Given the description of an element on the screen output the (x, y) to click on. 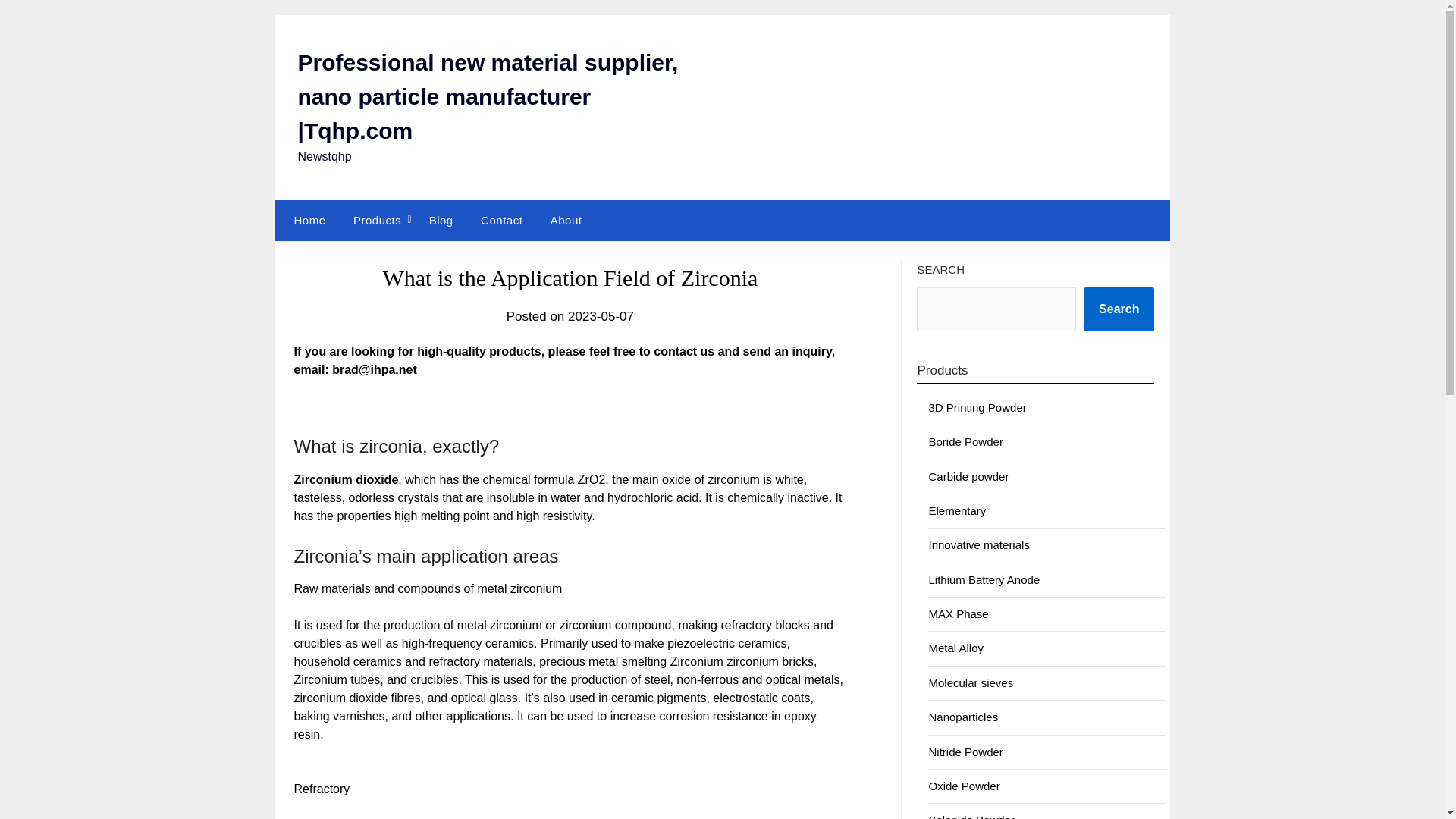
Molecular sieves (970, 682)
Lithium Battery Anode (983, 579)
About (566, 219)
Metal Alloy (956, 647)
Innovative materials (978, 544)
Blog (440, 219)
Contact (501, 219)
Carbide powder (968, 476)
Boride Powder (965, 440)
Home (306, 219)
Products (376, 219)
3D Printing Powder (977, 407)
Nitride Powder (965, 751)
Nanoparticles (962, 716)
Elementary (956, 510)
